Given the description of an element on the screen output the (x, y) to click on. 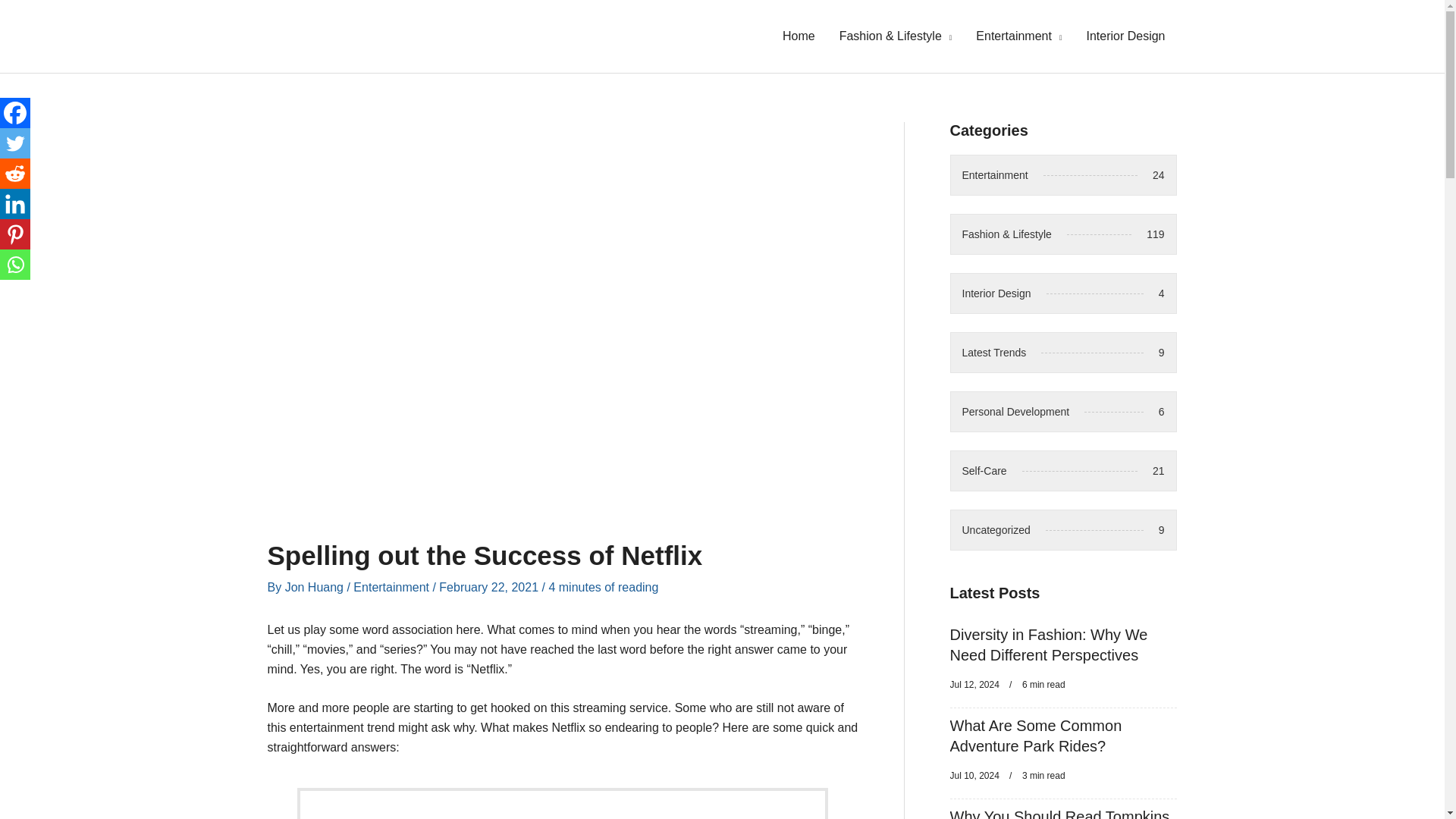
Home (798, 36)
Jon Huang (316, 586)
Interior Design (1062, 292)
Entertainment (1125, 36)
Entertainment (391, 586)
Twitter (1018, 36)
Whatsapp (1062, 411)
Linkedin (15, 142)
Reddit (1062, 529)
View all posts by Jon Huang (15, 264)
